Given the description of an element on the screen output the (x, y) to click on. 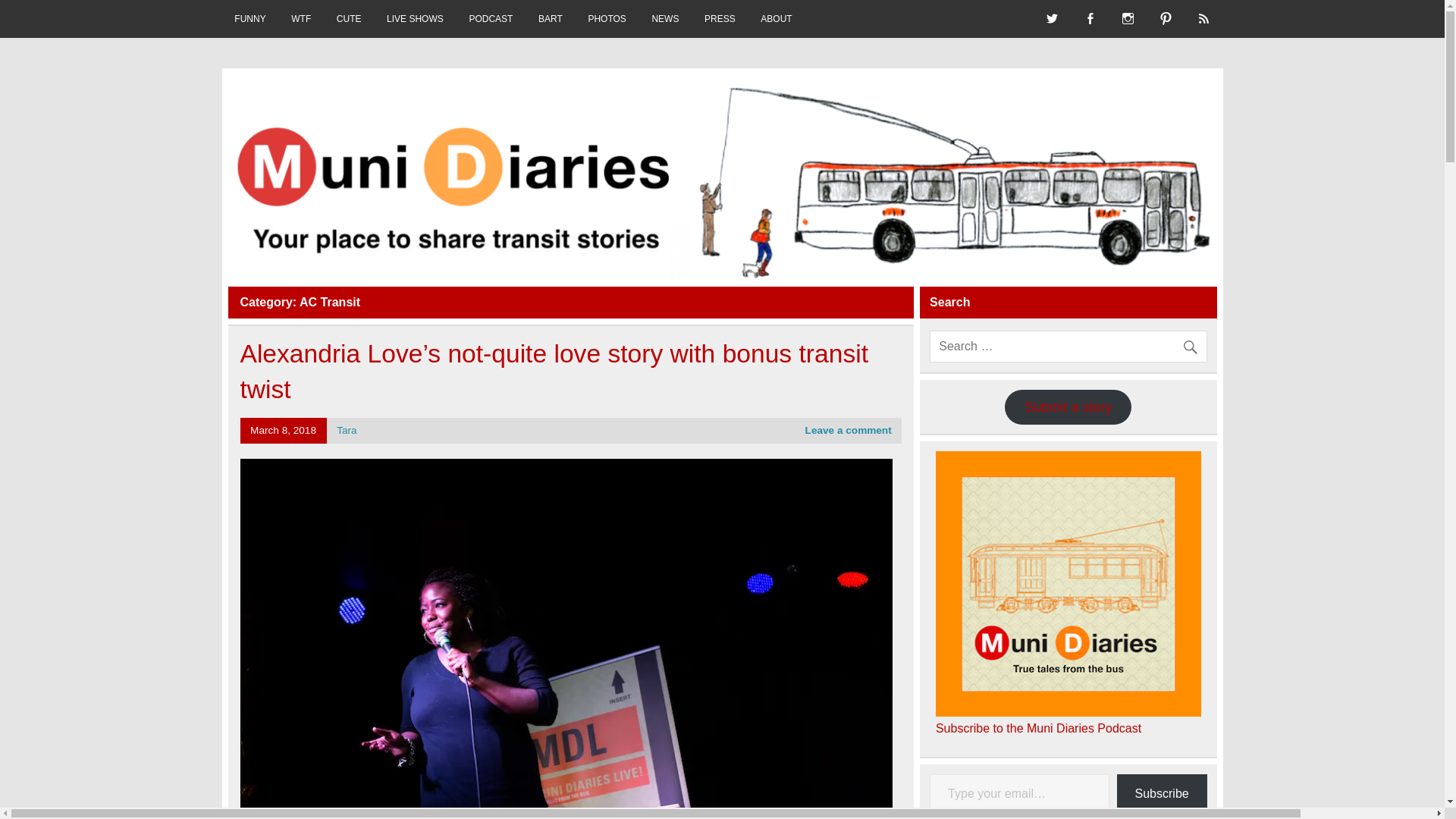
FUNNY (249, 18)
ABOUT (776, 18)
BART (550, 18)
9:04 am (282, 430)
Tara (346, 430)
PODCAST (491, 18)
PHOTOS (607, 18)
PRESS (719, 18)
CUTE (348, 18)
Leave a comment (848, 430)
NEWS (666, 18)
Muni Diaries (318, 94)
View all posts by Tara (346, 430)
LIVE SHOWS (414, 18)
March 8, 2018 (282, 430)
